Given the description of an element on the screen output the (x, y) to click on. 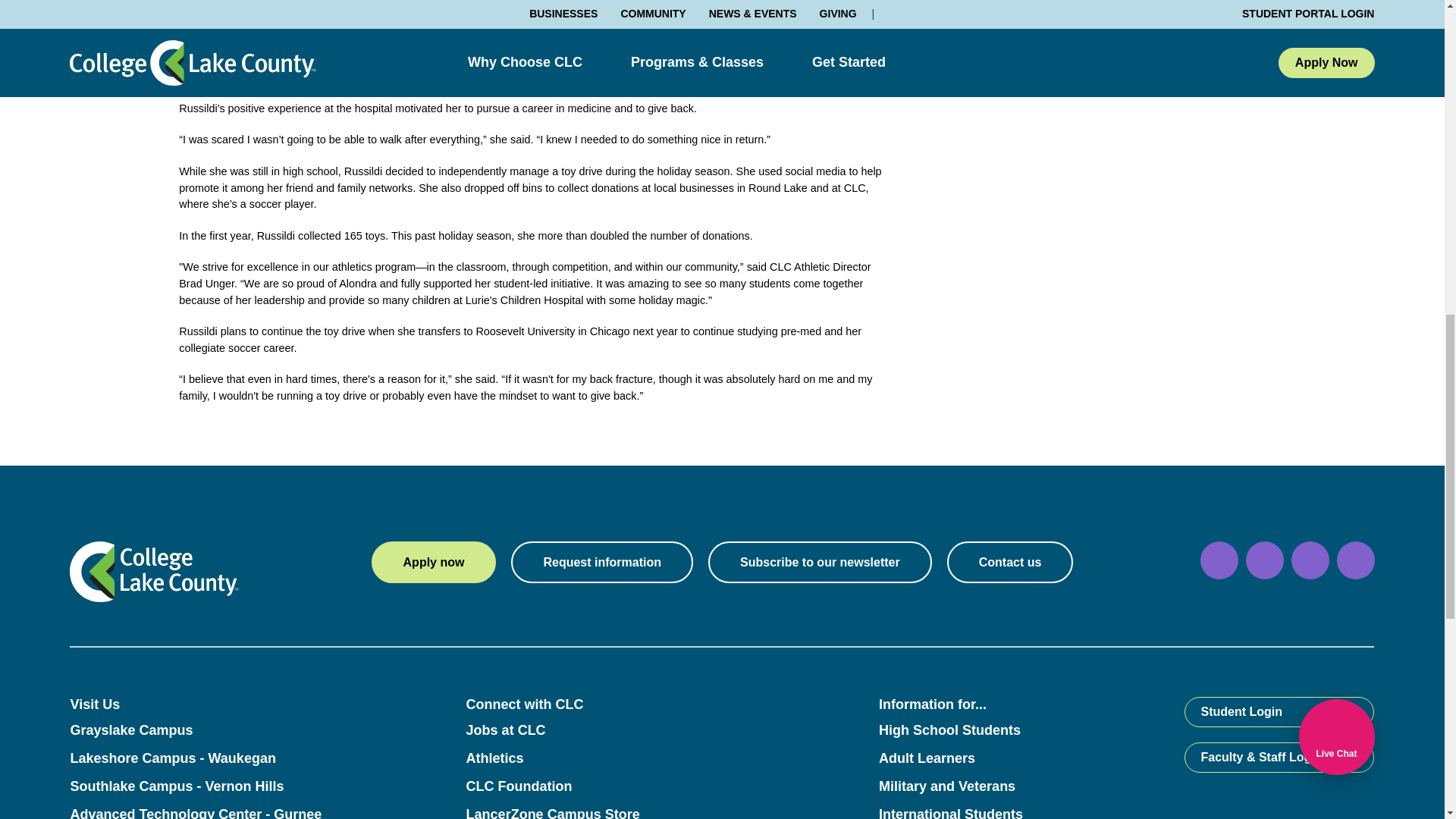
Southlake Campus - Vernon Hills (176, 785)
Lakeshore Campus - Waukegan (172, 758)
Contact us (1010, 562)
Advanced Technology Center - Gurnee (195, 812)
Request information (602, 562)
Subscribe to our newsletter (819, 562)
Apply now (433, 562)
Grayslake Campus (130, 729)
